Given the description of an element on the screen output the (x, y) to click on. 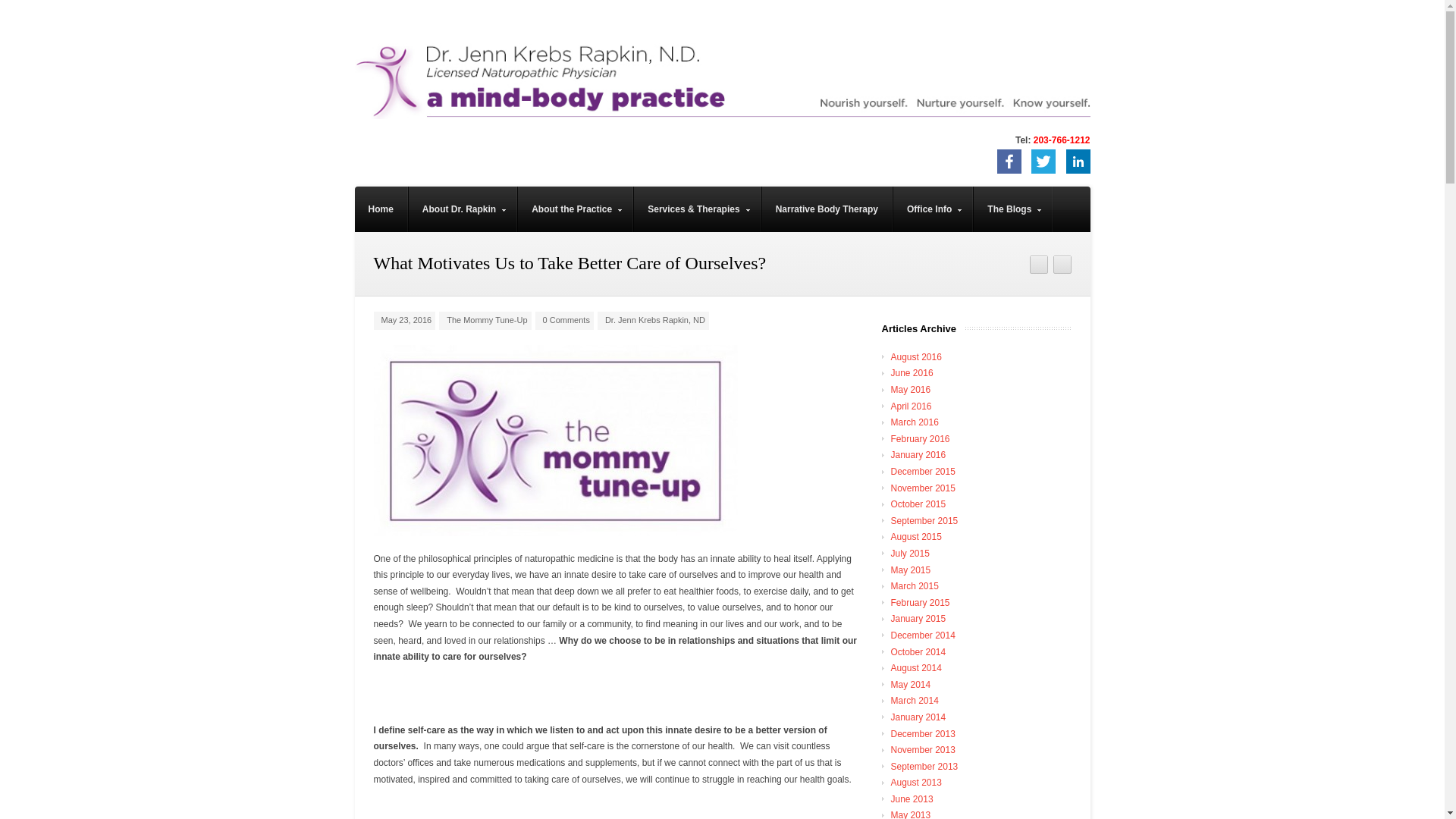
0 Comments (564, 321)
Home (381, 208)
The Mommy Tune-Up (486, 319)
203-766-1212 (1061, 140)
Dr. Jenn Krebs Rapkin, ND (654, 319)
0 Comments (566, 319)
Narrative Body Therapy (826, 208)
What Motivates Us to Take Better Care of Ourselves? (615, 440)
Posts by Dr. Jenn Krebs Rapkin, ND (654, 319)
